Given the description of an element on the screen output the (x, y) to click on. 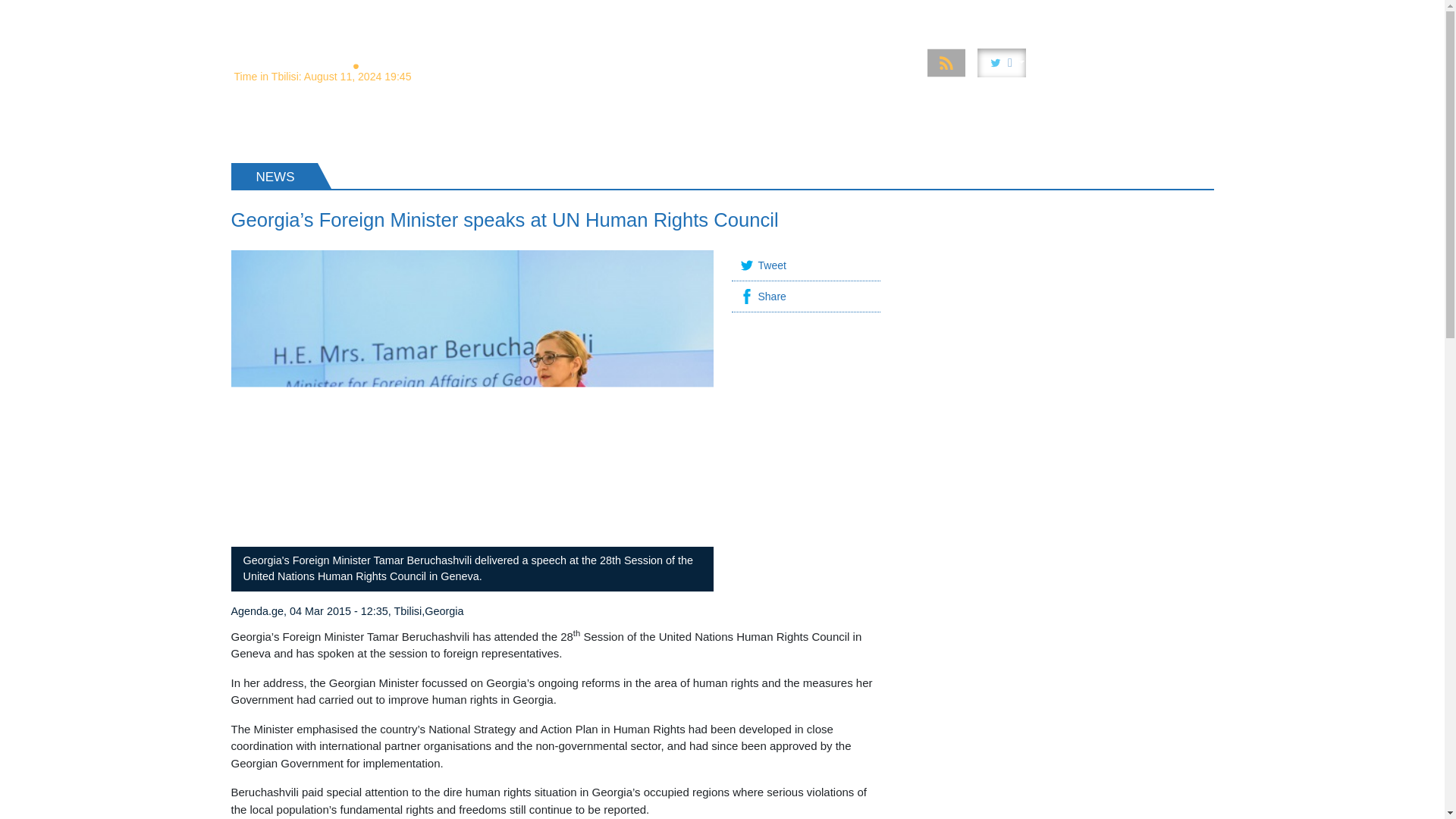
Pressscanner (1116, 14)
Special Reports (656, 14)
Analysis (571, 14)
Government (751, 14)
Infographic (990, 14)
Blogs (1187, 14)
In Pictures (911, 14)
Home (512, 14)
Life (1050, 14)
NEWS (262, 126)
